Given the description of an element on the screen output the (x, y) to click on. 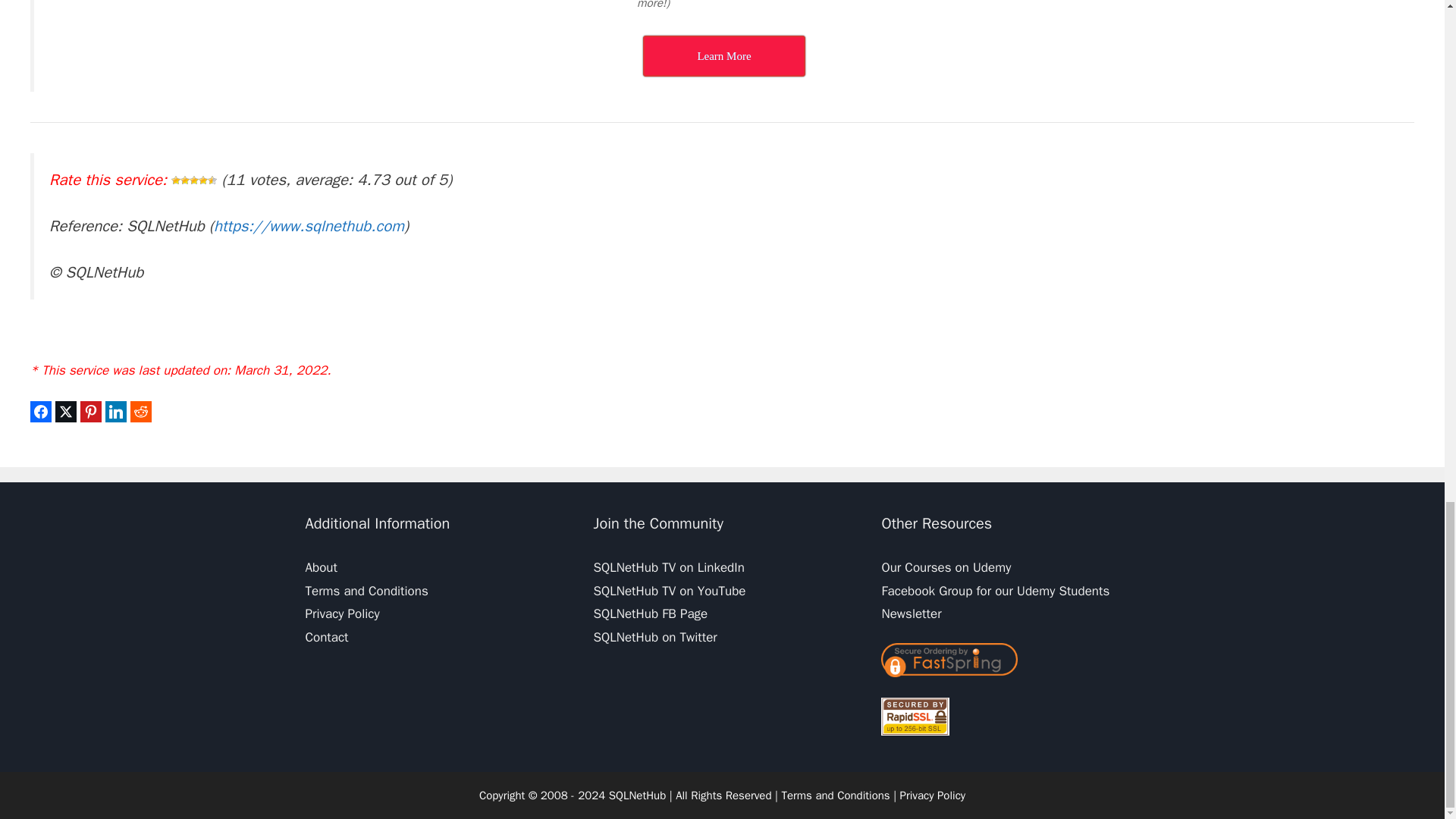
1 Star (175, 180)
4 Stars (203, 180)
Learn more about the online course! (724, 56)
3 Stars (193, 180)
2 Stars (184, 180)
